Given the description of an element on the screen output the (x, y) to click on. 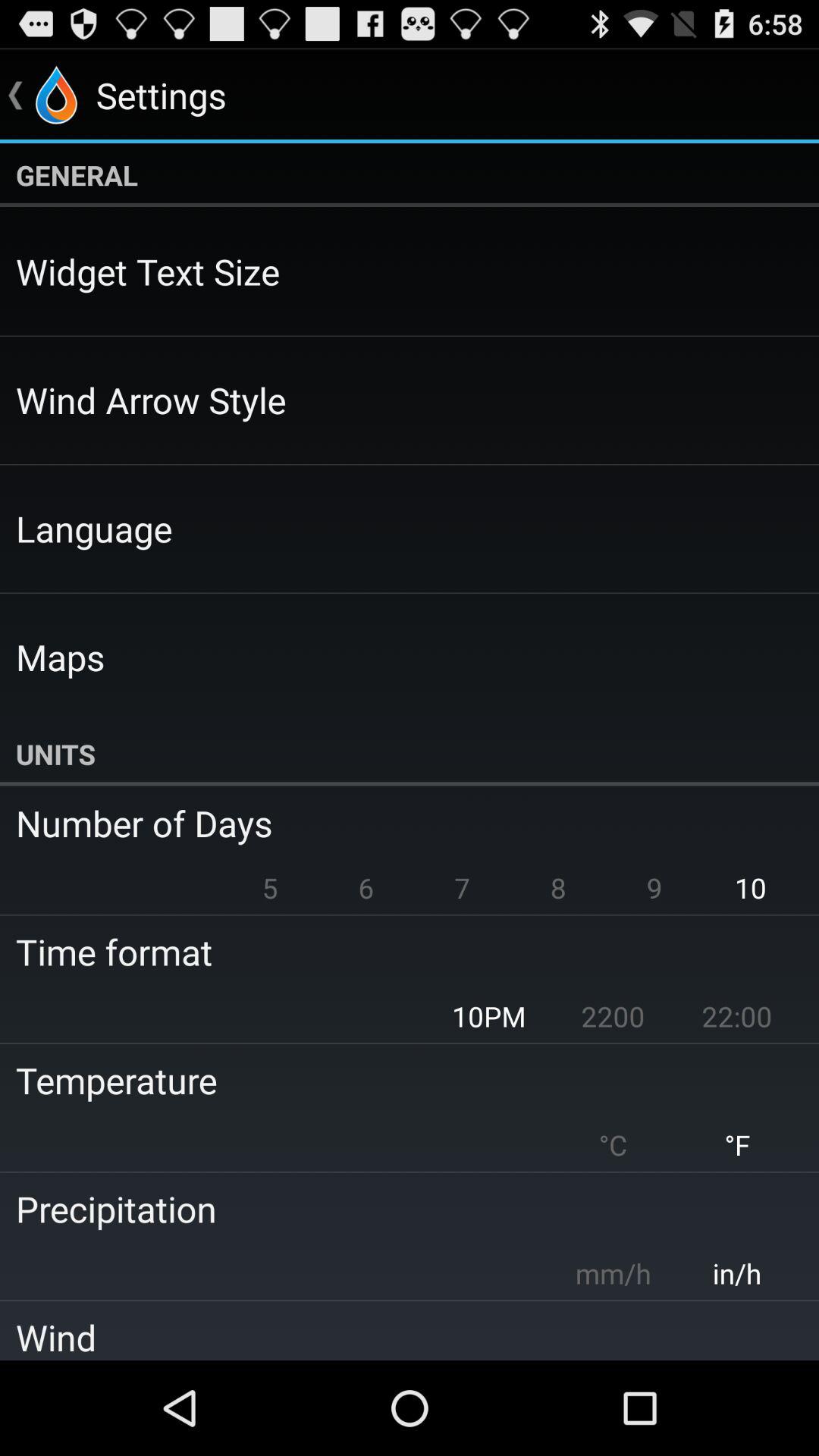
turn off the icon above the time format icon (270, 887)
